Given the description of an element on the screen output the (x, y) to click on. 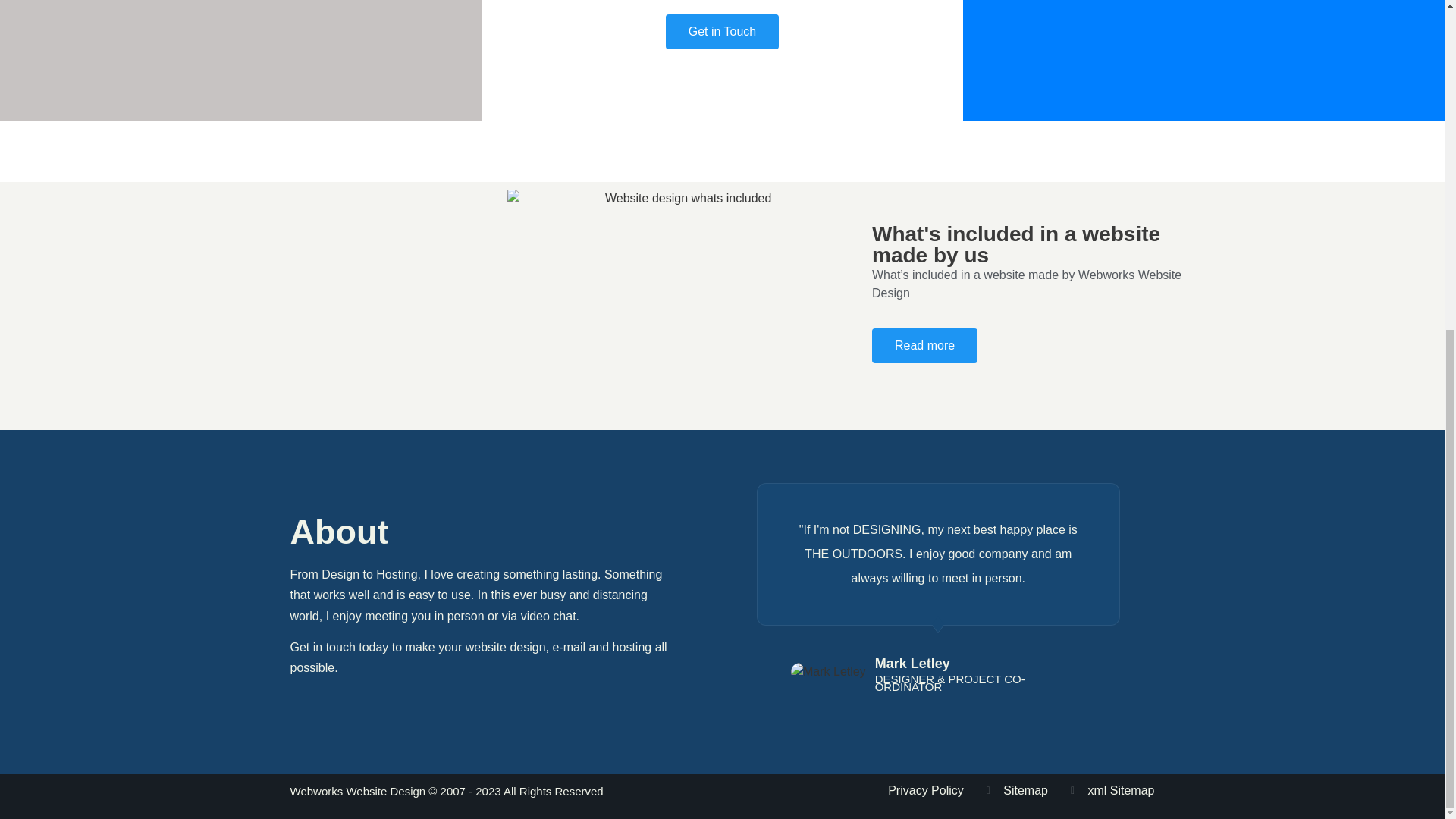
Read more (924, 345)
Sitemap (1017, 791)
Get in Touch (721, 31)
Privacy Policy (925, 791)
xml Sitemap (1112, 791)
